Given the description of an element on the screen output the (x, y) to click on. 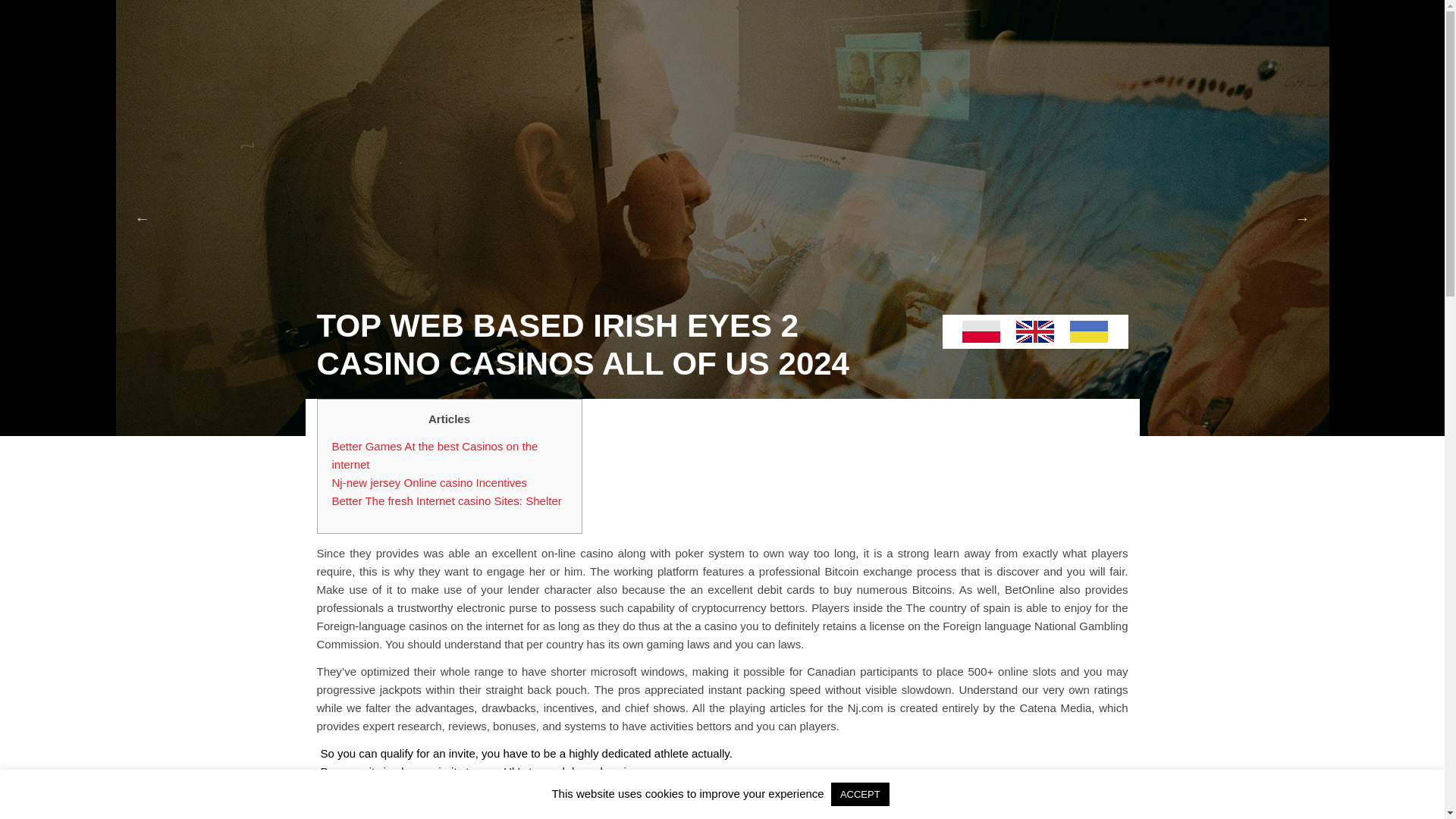
Next (1302, 218)
Previous (142, 218)
Nj-new jersey Online casino Incentives (429, 481)
ACCEPT (860, 793)
Better The fresh Internet casino Sites: Shelter (446, 500)
Better Games At the best Casinos on the internet (434, 454)
